Given the description of an element on the screen output the (x, y) to click on. 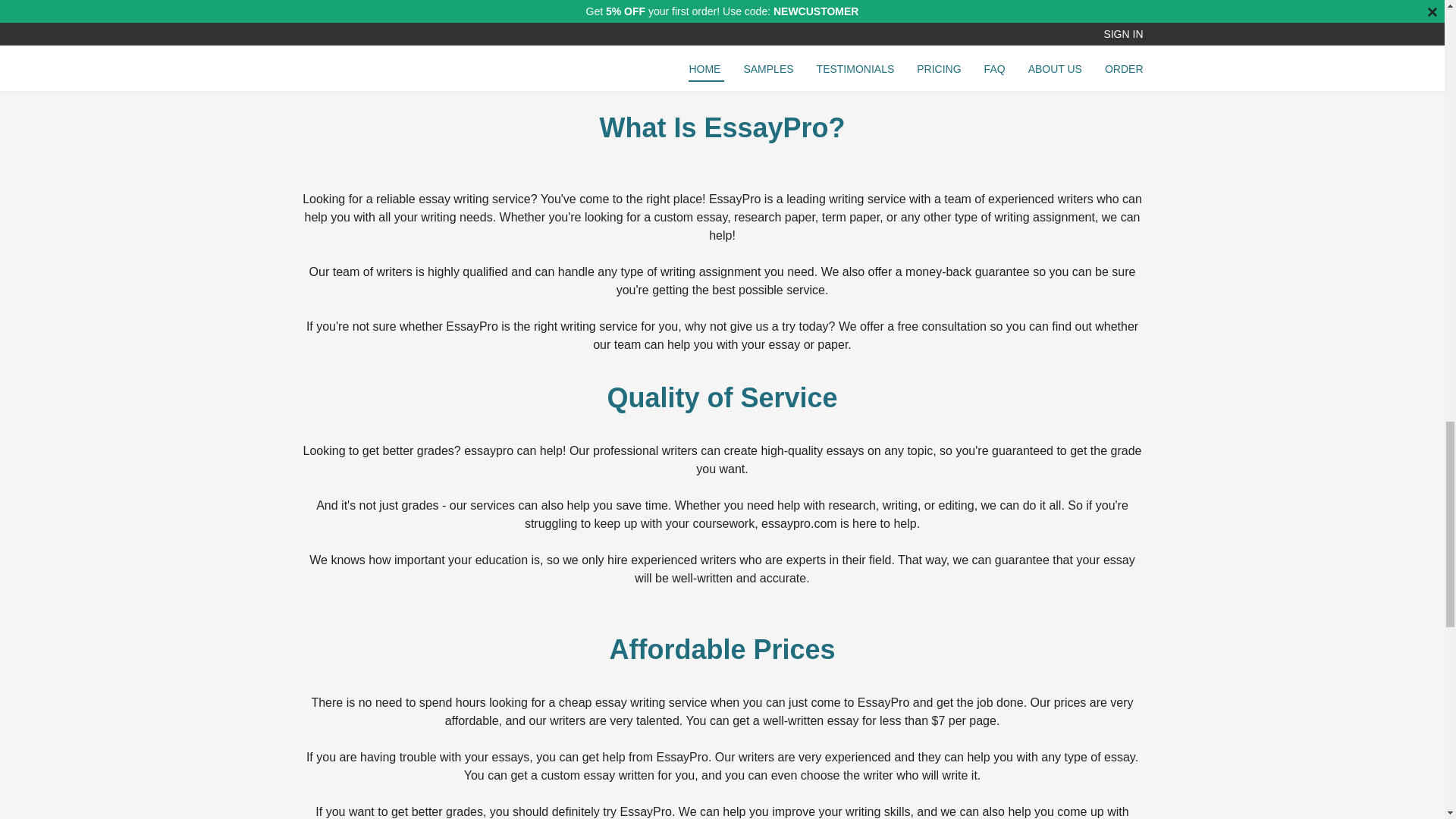
EssayPro (681, 757)
EssayPro (645, 811)
essaypro (785, 522)
Order now (722, 5)
essaypro (488, 450)
EssayPro (471, 326)
EssayPro (882, 702)
EssayPro (734, 198)
EssayPro (839, 38)
